Given the description of an element on the screen output the (x, y) to click on. 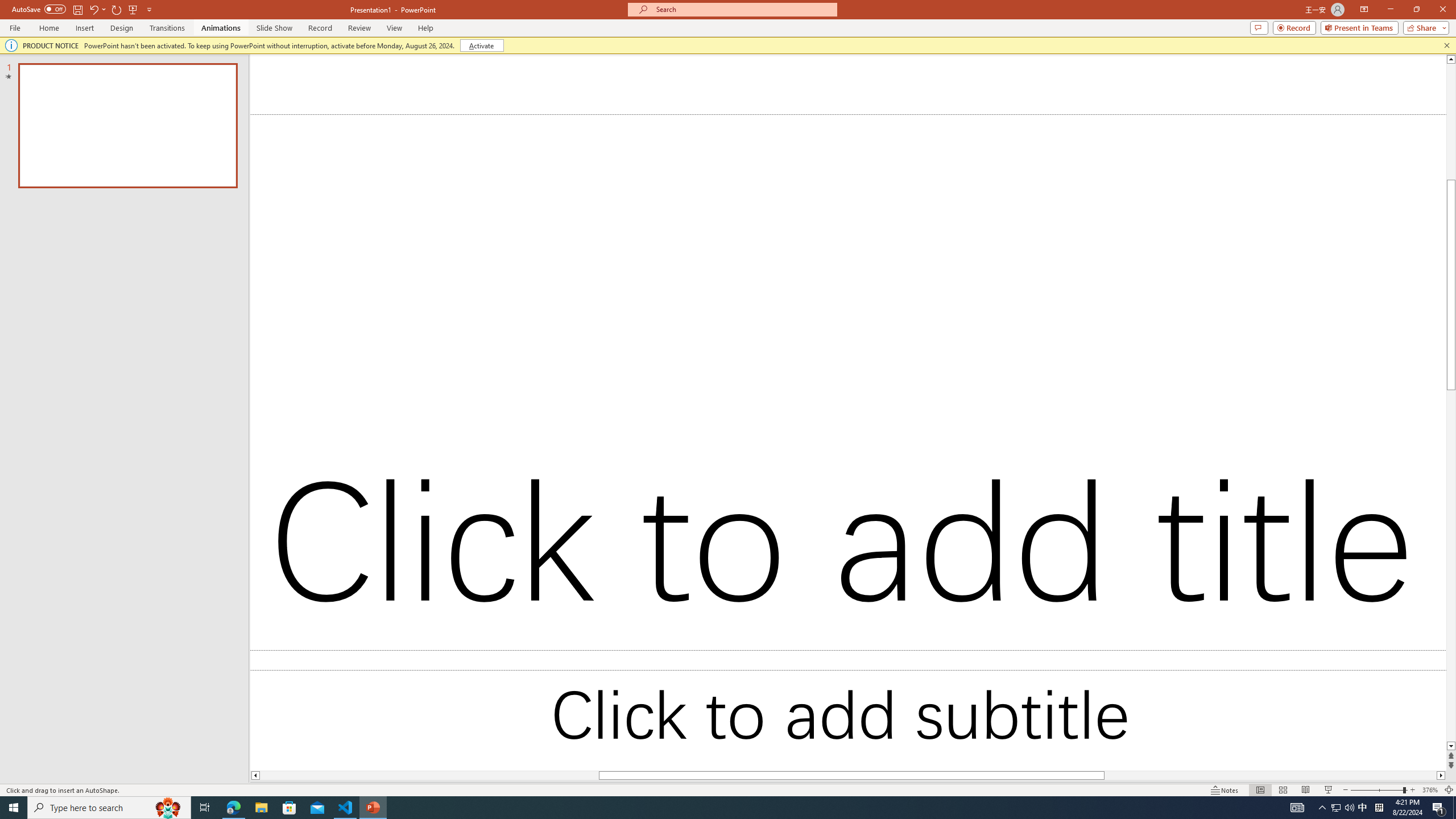
Intense Emphasis (1369, 391)
Line down (1278, 757)
Enclose Characters... (374, 102)
Increase Indent (537, 77)
Microsoft search (749, 18)
No Spacing (1369, 260)
Mode (1345, 48)
Heading 3 (1369, 309)
Font... (383, 128)
